Given the description of an element on the screen output the (x, y) to click on. 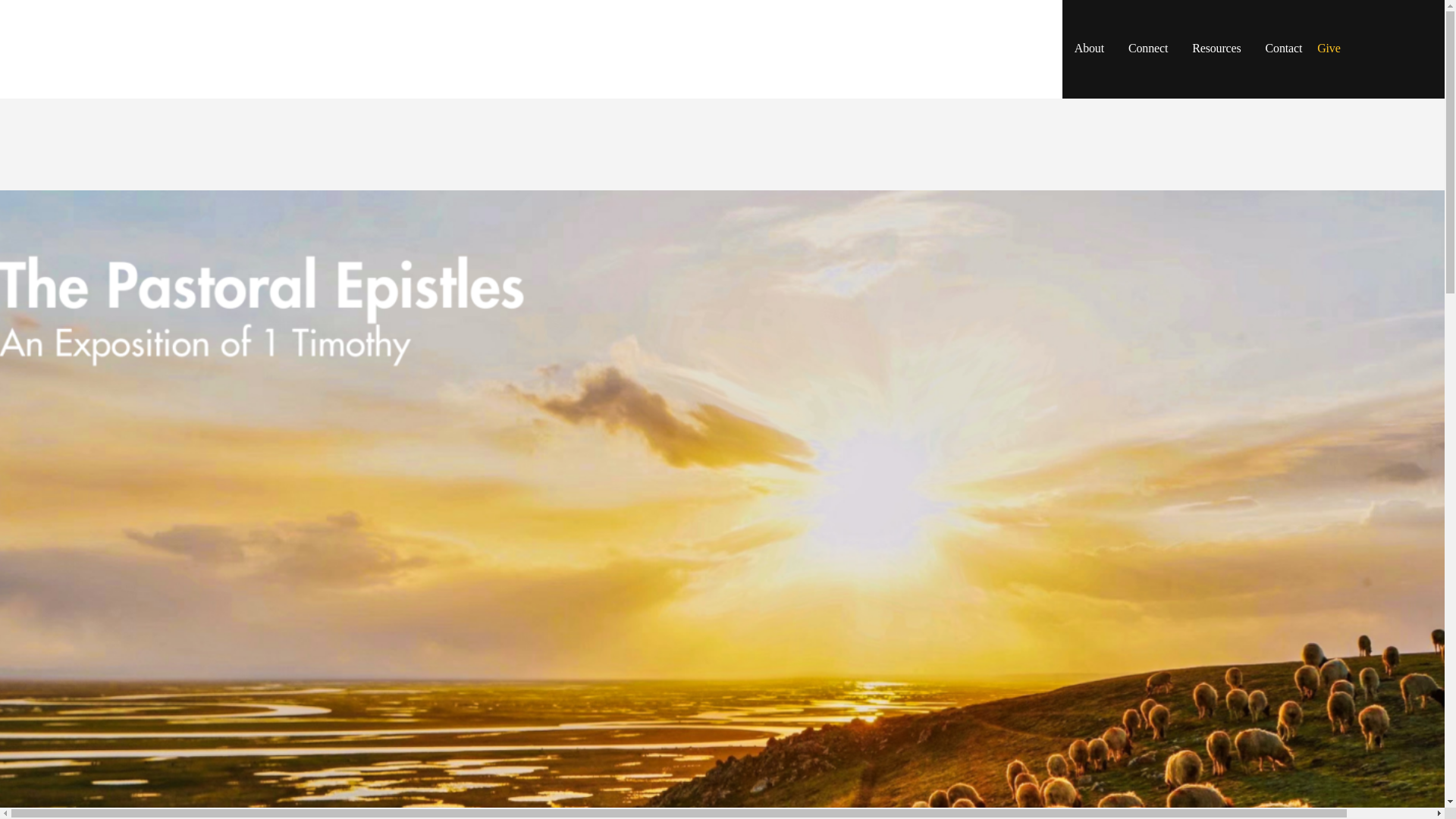
Give (1328, 48)
Connect (1147, 48)
HERITAGE BAPTIST CHURCH (252, 39)
Resources (1215, 48)
Contact (1283, 48)
